Given the description of an element on the screen output the (x, y) to click on. 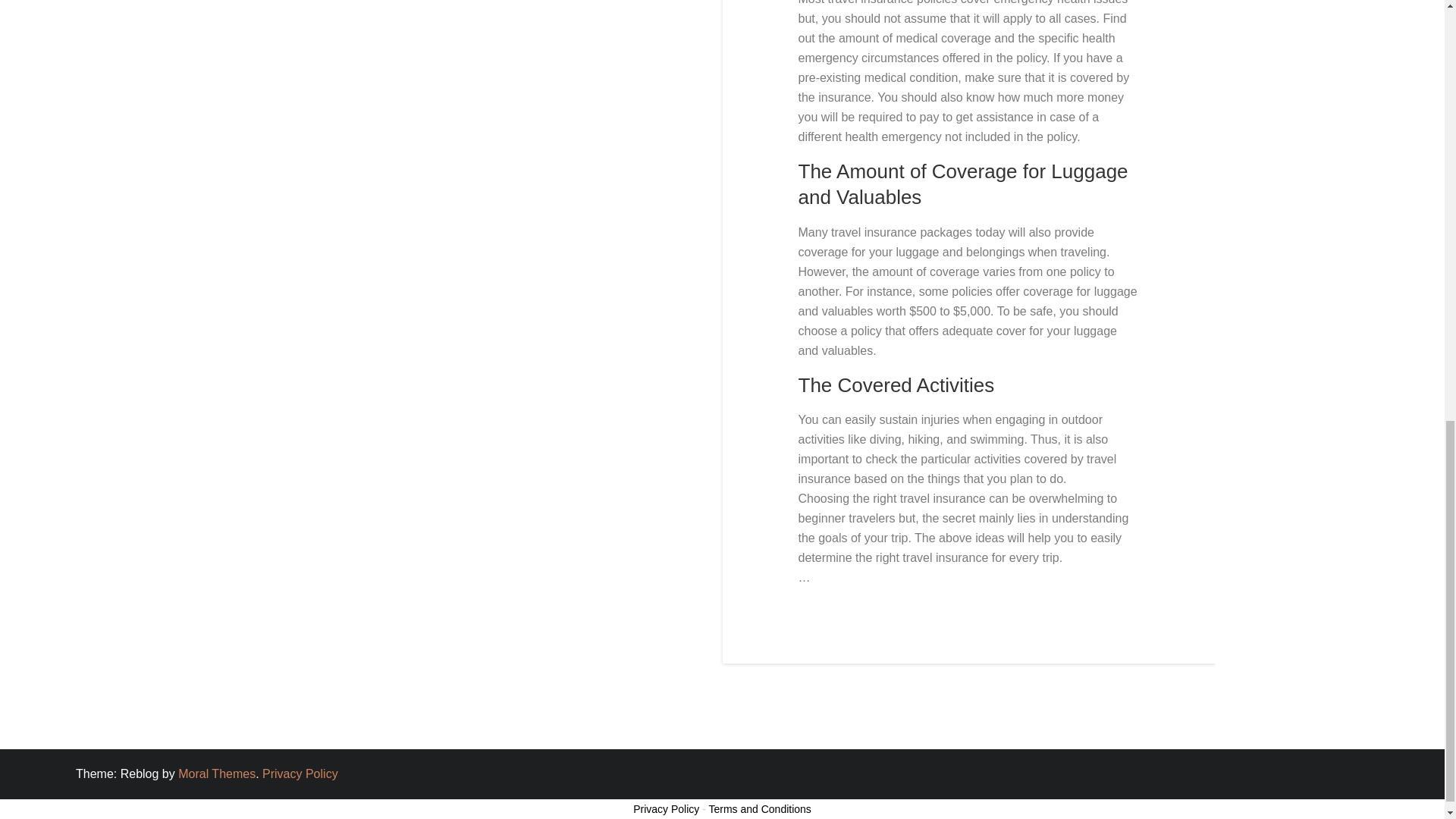
Privacy Policy (299, 773)
Privacy Policy (665, 808)
Moral Themes (216, 773)
Terms and Conditions (758, 808)
